Given the description of an element on the screen output the (x, y) to click on. 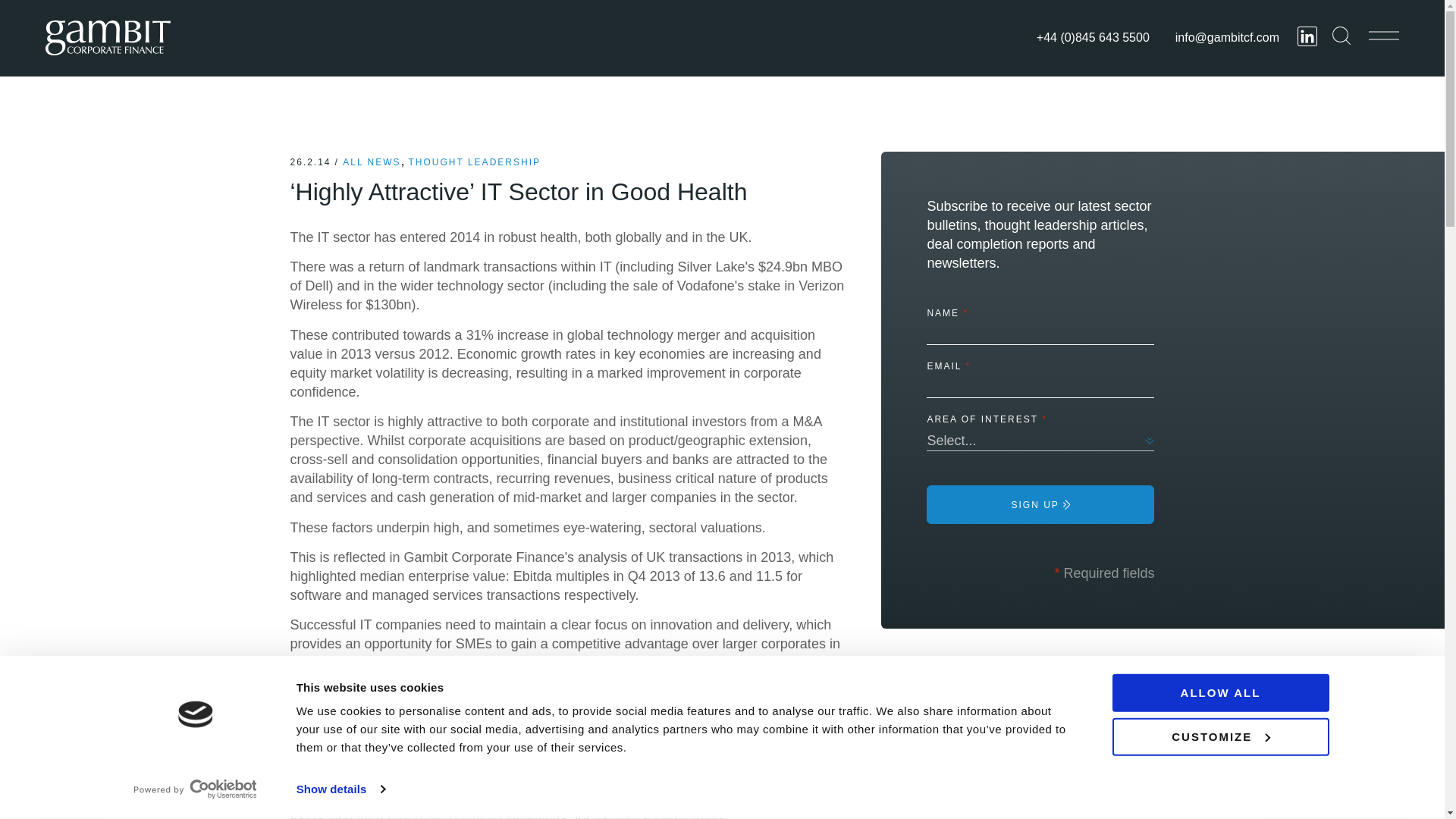
Show details (340, 789)
CUSTOMIZE (1219, 736)
ALLOW ALL (1219, 692)
